Given the description of an element on the screen output the (x, y) to click on. 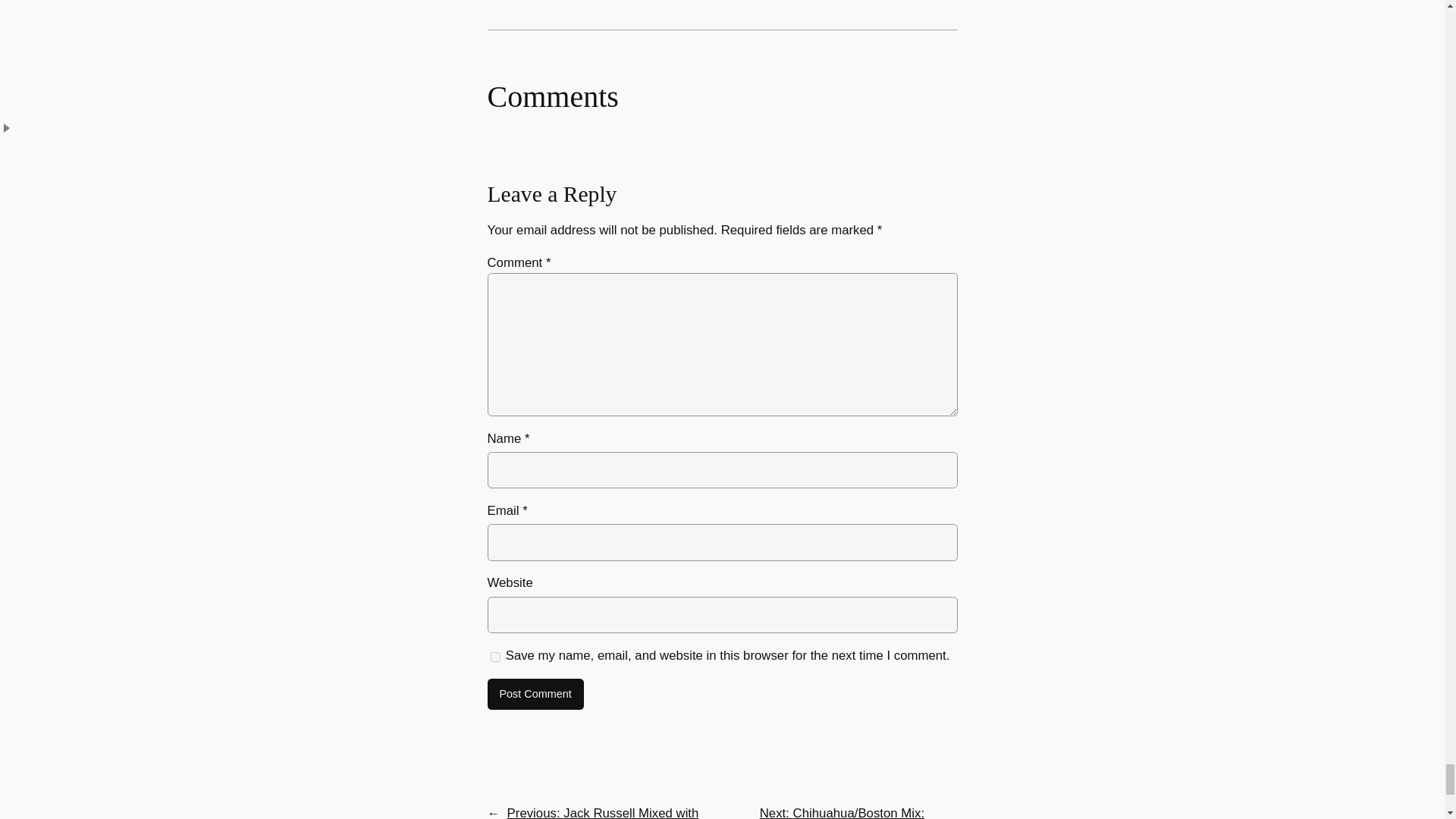
Post Comment (534, 694)
